Given the description of an element on the screen output the (x, y) to click on. 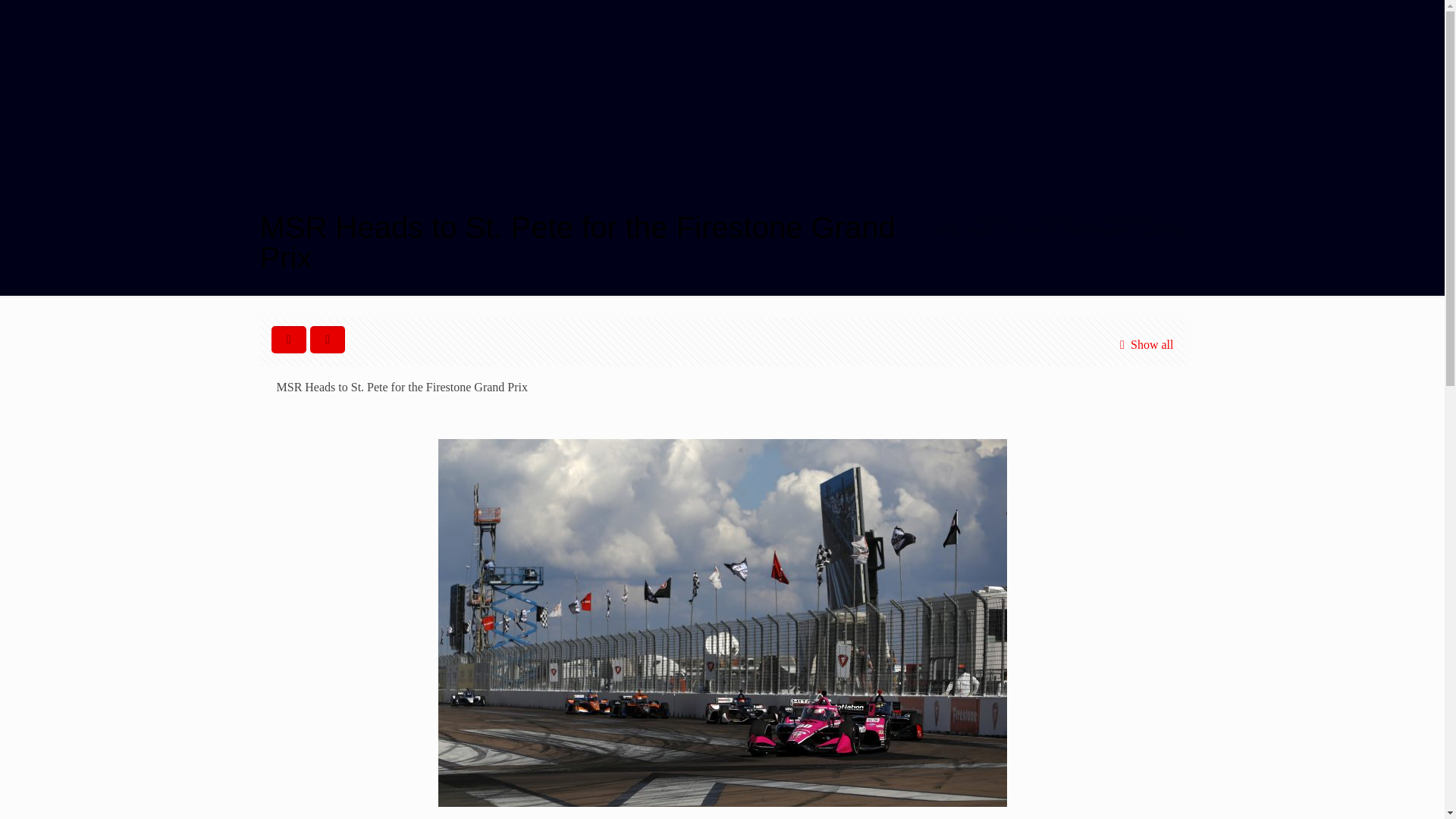
Show all (1143, 344)
All News (1126, 218)
MSR Heads to St. Pete for the Firestone Grand Prix (1059, 230)
Home (990, 218)
News (1054, 218)
